Given the description of an element on the screen output the (x, y) to click on. 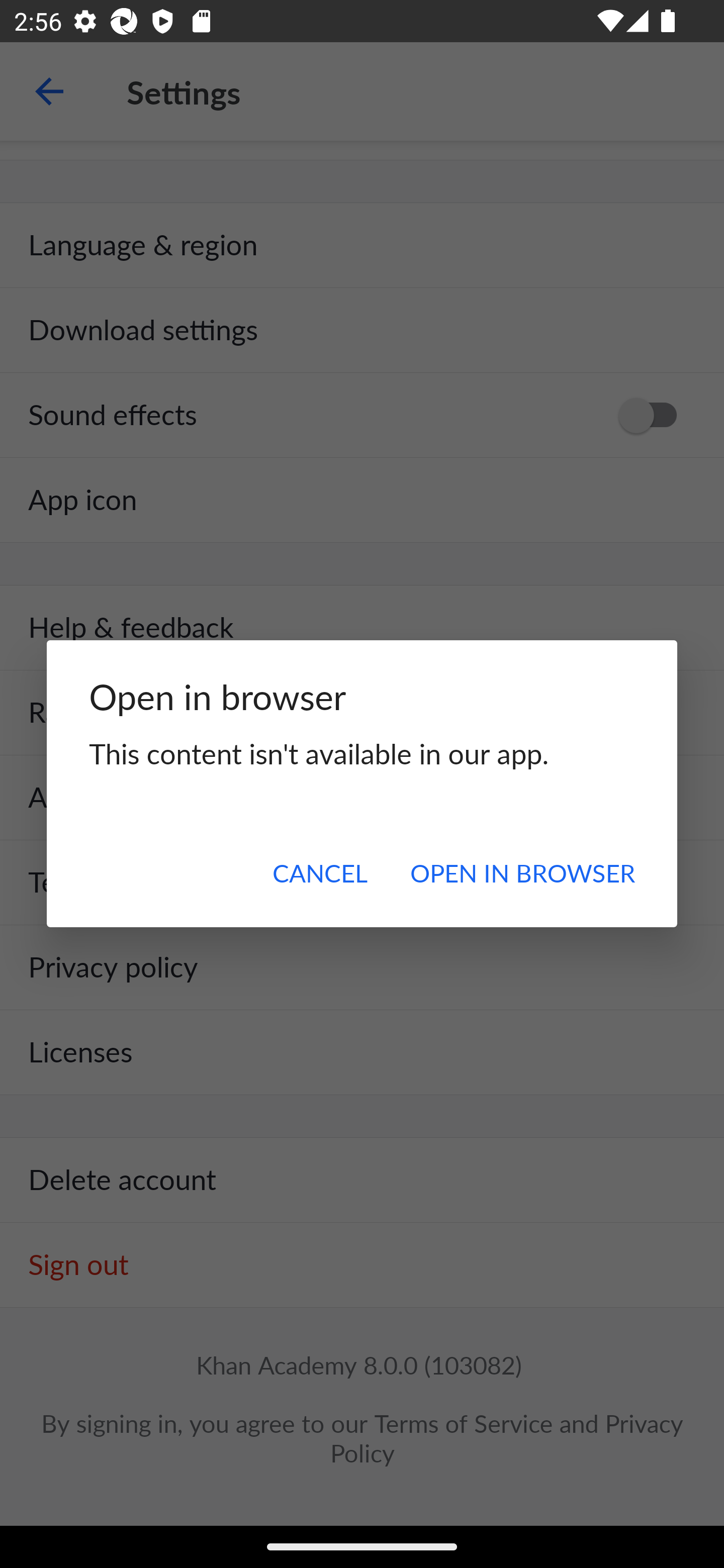
CANCEL (319, 872)
OPEN IN BROWSER (521, 872)
